Given the description of an element on the screen output the (x, y) to click on. 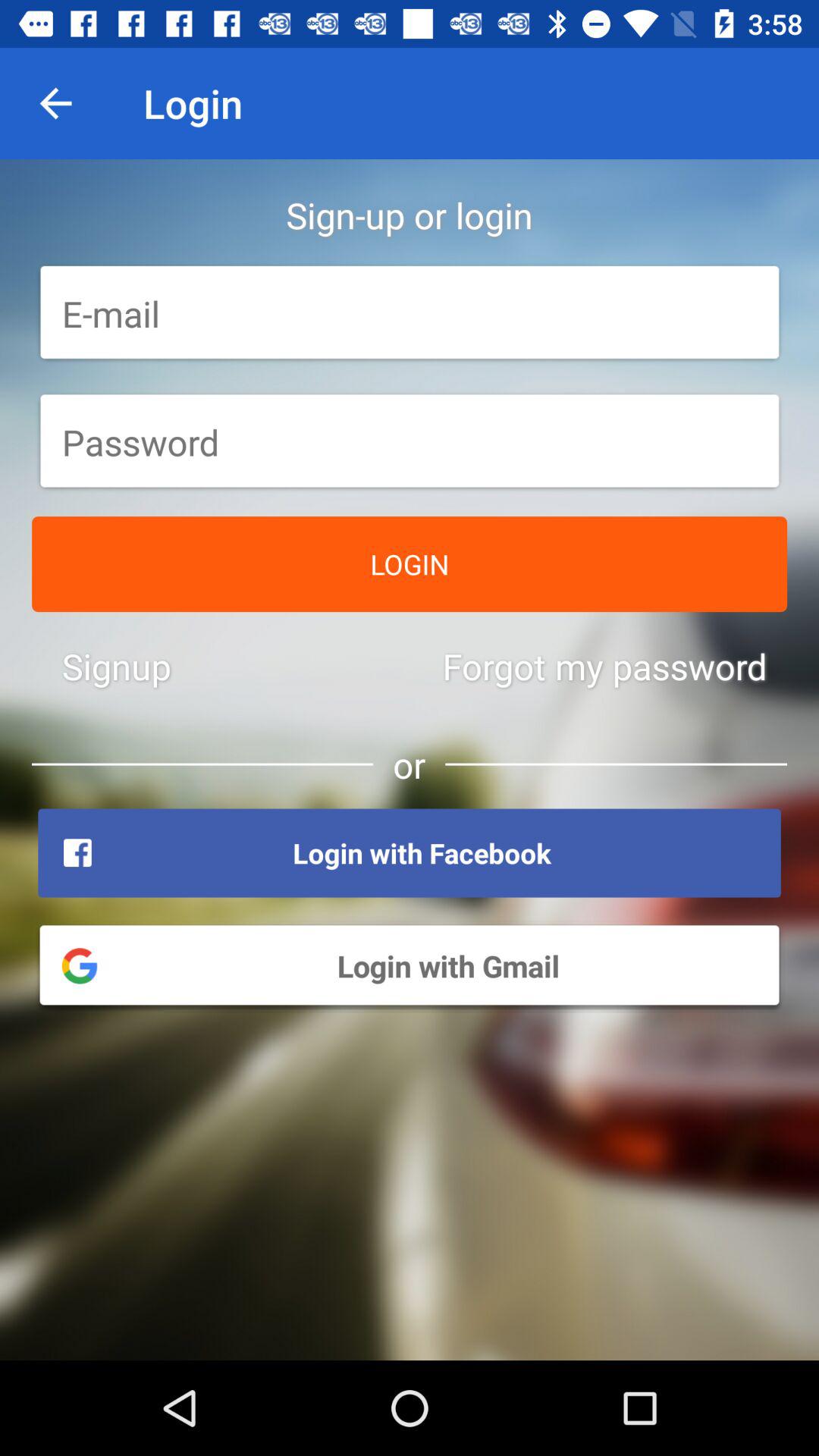
click item next to the forgot my password (116, 665)
